Given the description of an element on the screen output the (x, y) to click on. 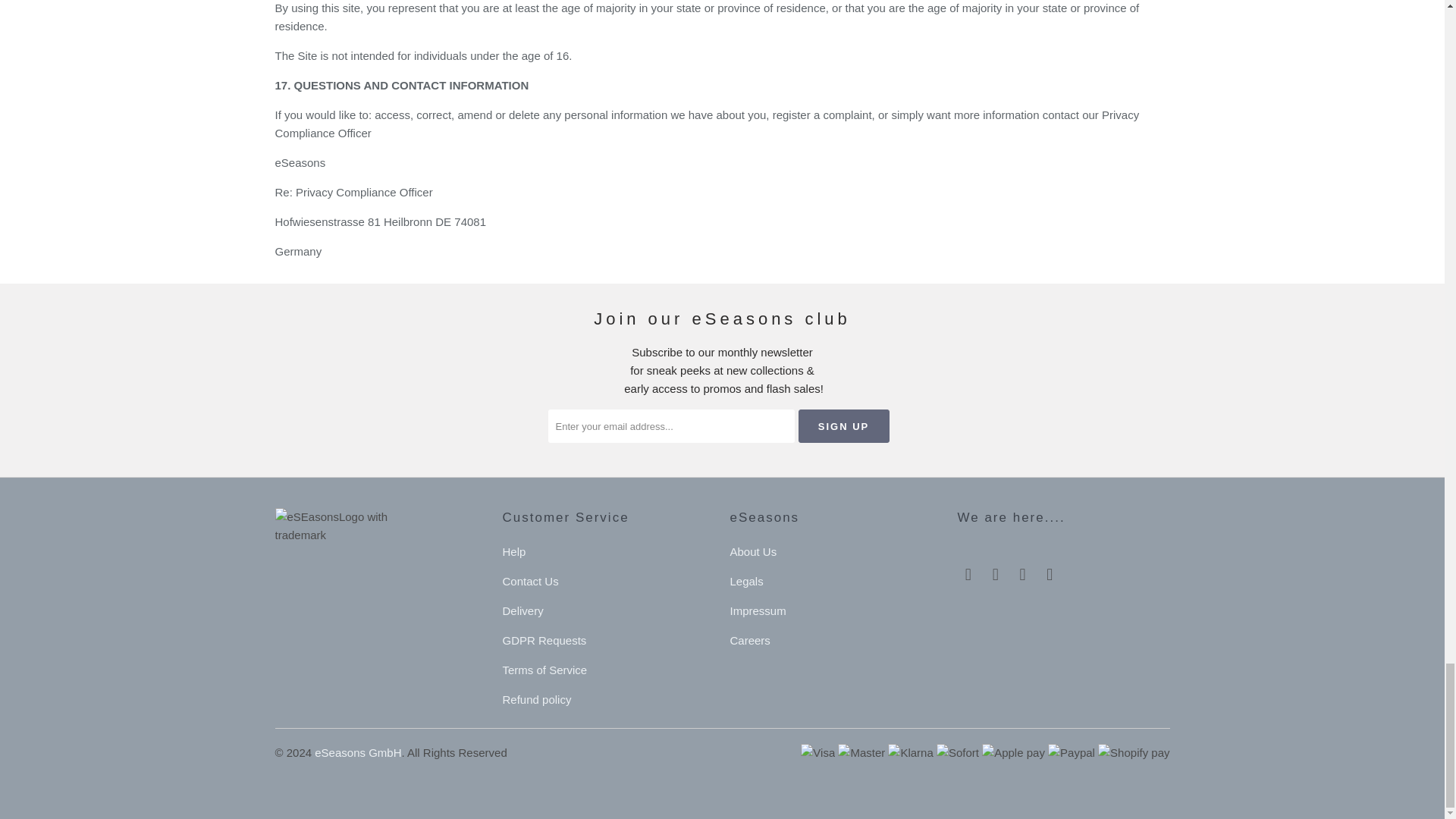
eSeasons GmbH on Facebook (967, 574)
Sign Up (842, 426)
eSeasons GmbH on Instagram (1050, 574)
eSeasons GmbH on YouTube (995, 574)
eSeasons GmbH on Pinterest (1022, 574)
